Given the description of an element on the screen output the (x, y) to click on. 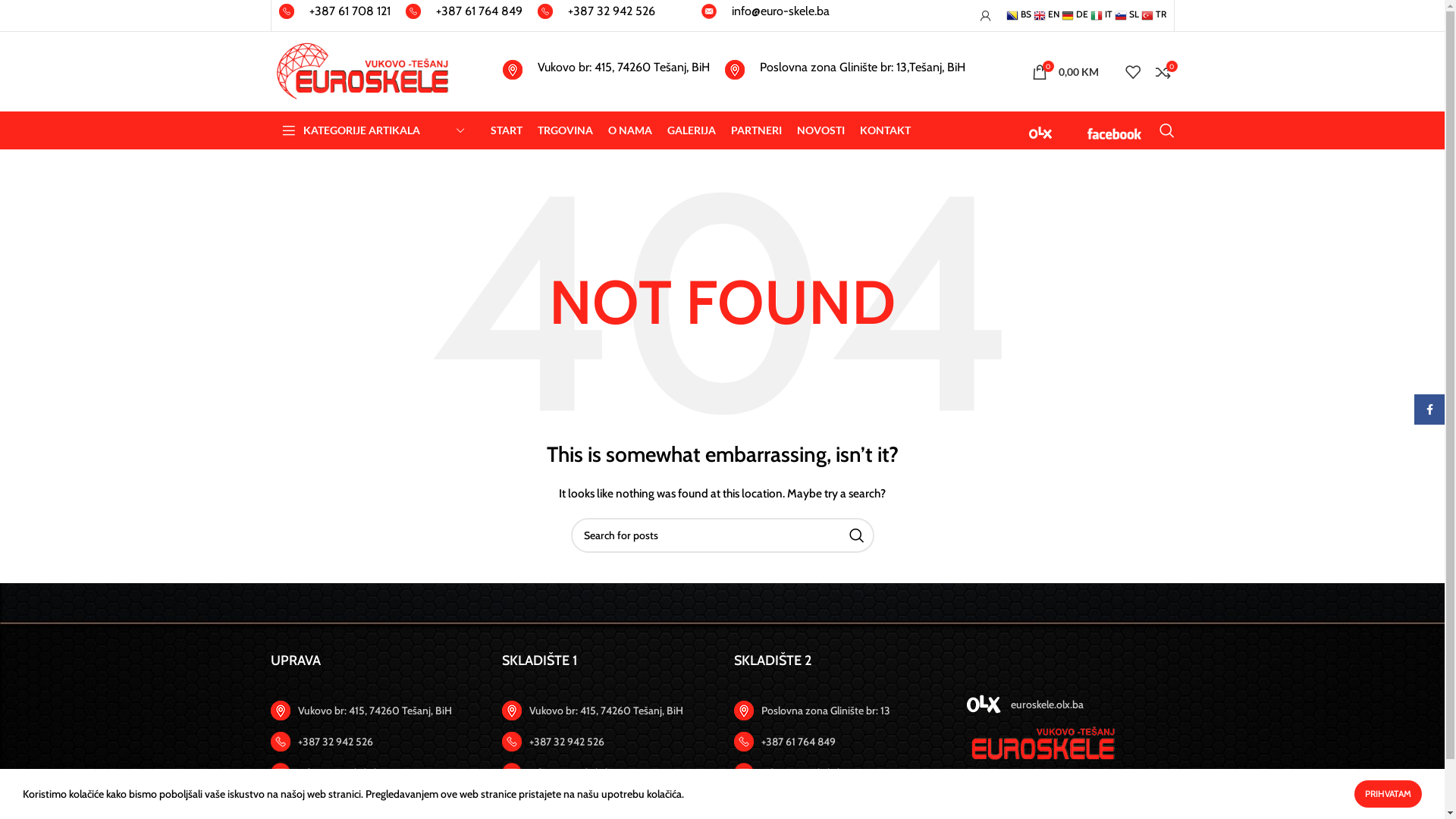
PARTNERI Element type: text (756, 130)
GALERIJA Element type: text (691, 130)
PRETRAGA Element type: text (855, 534)
  Element type: text (1040, 128)
tools-phone4 Element type: hover (743, 741)
tools-phone4 Element type: hover (286, 10)
ske2 Element type: hover (1041, 744)
tools-phone2 Element type: hover (279, 741)
START Element type: text (505, 130)
+387 61 764 849 Element type: text (462, 15)
euroskele.olx.ba Element type: hover (1069, 704)
mailred Element type: hover (511, 772)
+387 61 708 121 Element type: text (334, 15)
SL Element type: text (1126, 13)
Search Element type: hover (1166, 130)
tools-location2 Element type: hover (511, 710)
EN Element type: text (1045, 13)
mailred Element type: hover (707, 10)
PRIHVATAM Element type: text (1387, 793)
TR Element type: text (1152, 13)
Prijava Element type: hover (984, 15)
mailred Element type: hover (743, 772)
0
0,00 KM Element type: text (1064, 71)
tools-location2 Element type: hover (511, 69)
NOVOSTI Element type: text (820, 130)
tools-phone4 Element type: hover (511, 741)
BS Element type: text (1017, 13)
Search for posts Element type: hover (721, 534)
tools-location2 Element type: hover (743, 710)
mailred Element type: hover (279, 772)
TRGOVINA Element type: text (564, 130)
KONTAKT Element type: text (884, 130)
+387 32 942 526 Element type: text (595, 15)
tools-location2 Element type: hover (734, 69)
tools-phone4 Element type: hover (412, 10)
DE Element type: text (1074, 13)
O NAMA Element type: text (630, 130)
olxlogobijeli Element type: hover (984, 704)
IT Element type: text (1101, 13)
tools-phone4 Element type: hover (544, 10)
0 Element type: text (1163, 71)
tools-location2 Element type: hover (279, 710)
  Element type: text (1114, 128)
info@euro-skele.ba Element type: text (764, 15)
